Given the description of an element on the screen output the (x, y) to click on. 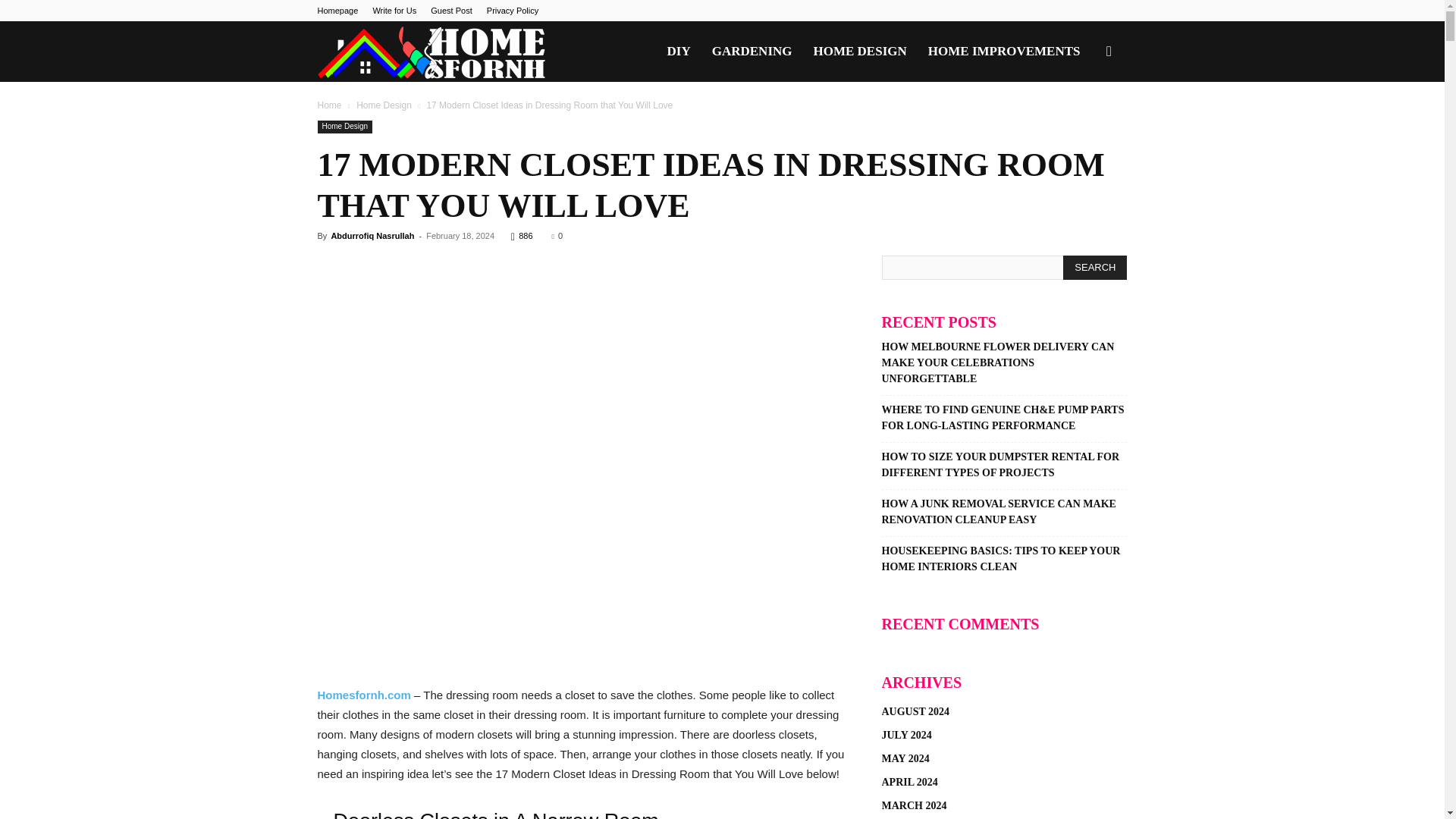
Abdurrofiq Nasrullah (371, 235)
Search (1094, 267)
Homesfornh.com (363, 694)
Guest Post (450, 10)
HOME DESIGN (860, 51)
0 (556, 235)
View all posts in Home Design (384, 104)
Home (328, 104)
HOME IMPROVEMENTS (1003, 51)
Search (1085, 124)
